Given the description of an element on the screen output the (x, y) to click on. 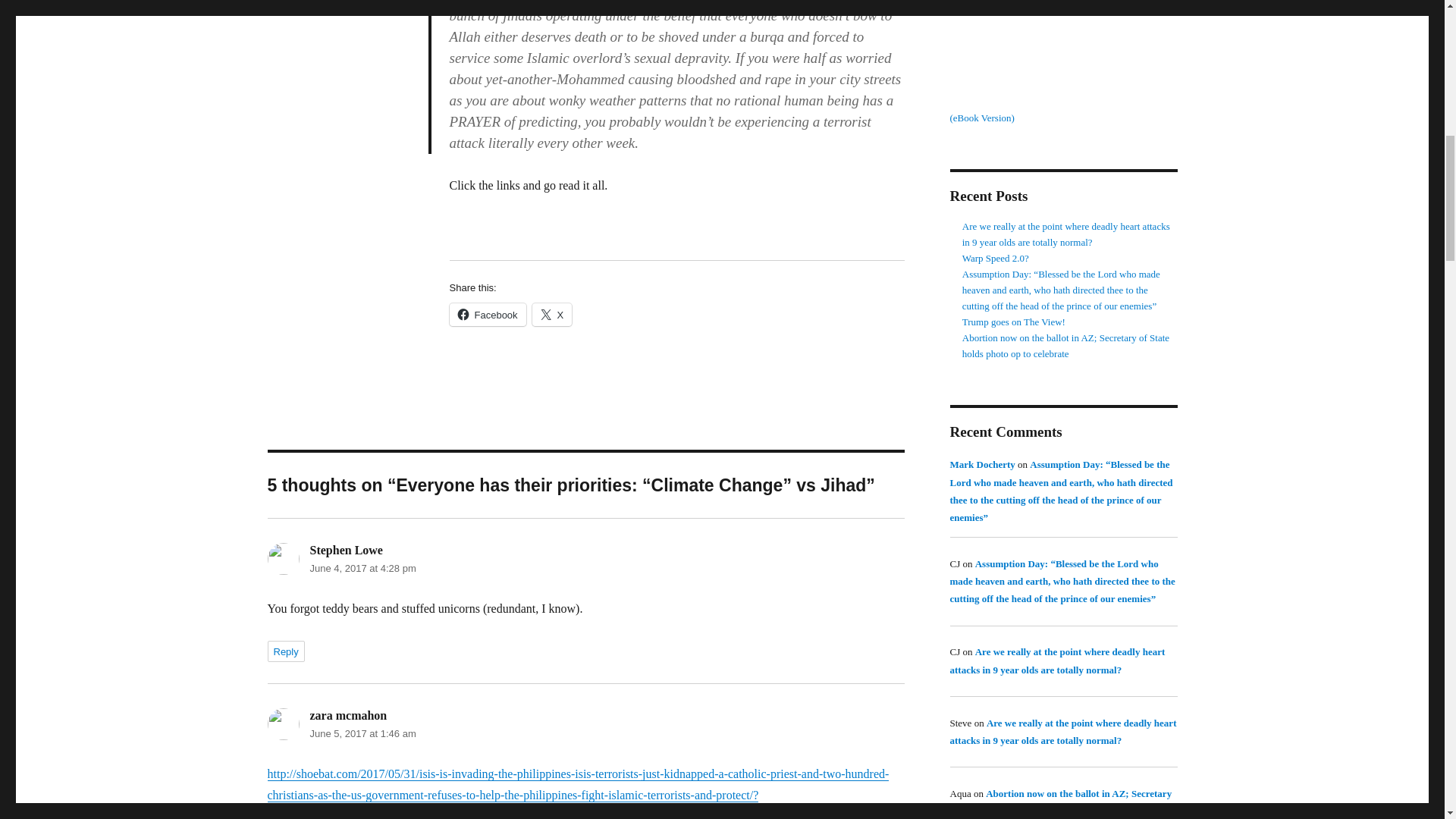
June 4, 2017 at 4:28 pm (361, 568)
June 5, 2017 at 1:46 am (361, 733)
Facebook (486, 314)
Reply (285, 650)
X (552, 314)
Click to share on Facebook (486, 314)
Click to share on X (552, 314)
